Given the description of an element on the screen output the (x, y) to click on. 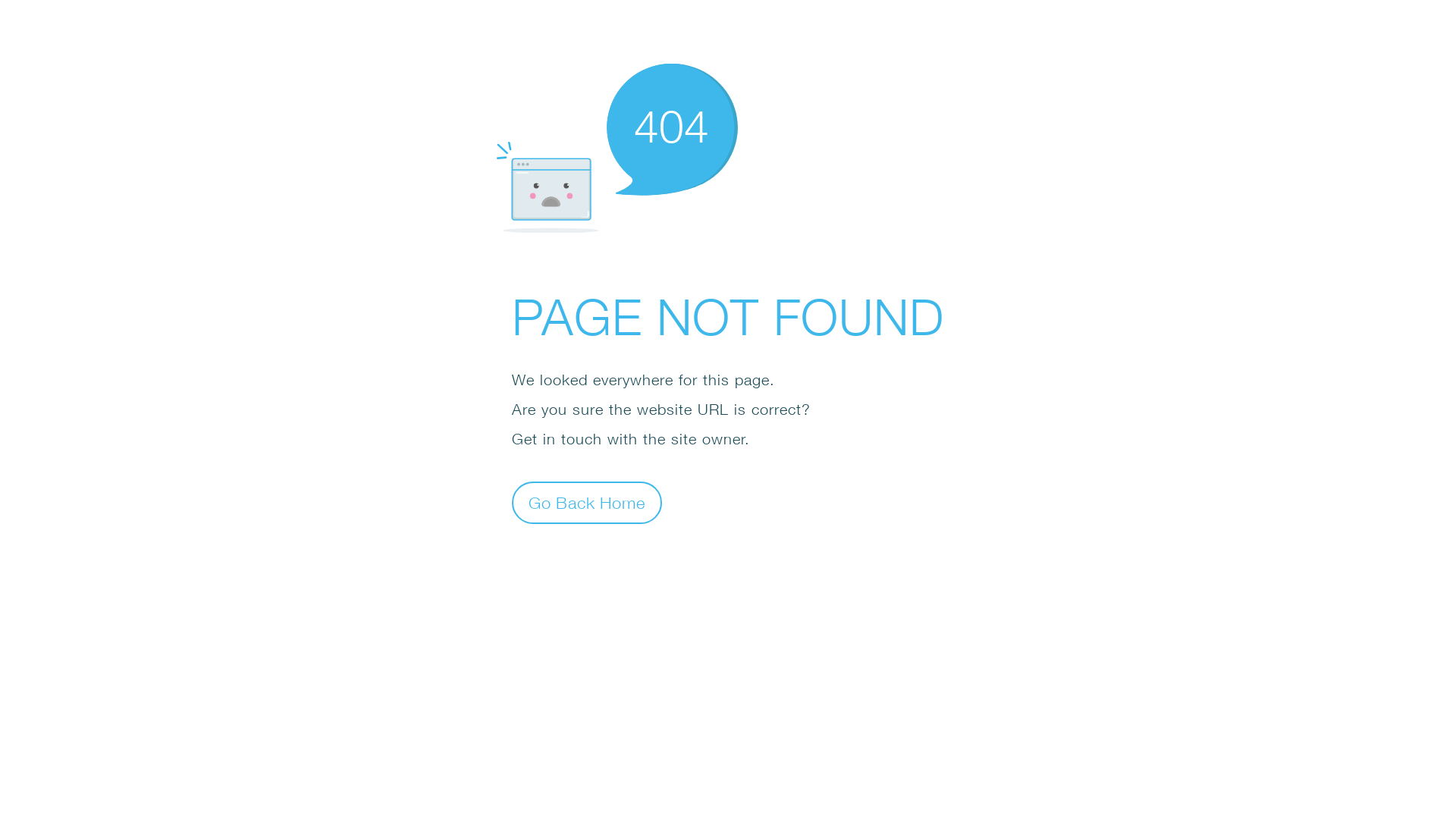
Go Back Home Element type: text (586, 502)
